Given the description of an element on the screen output the (x, y) to click on. 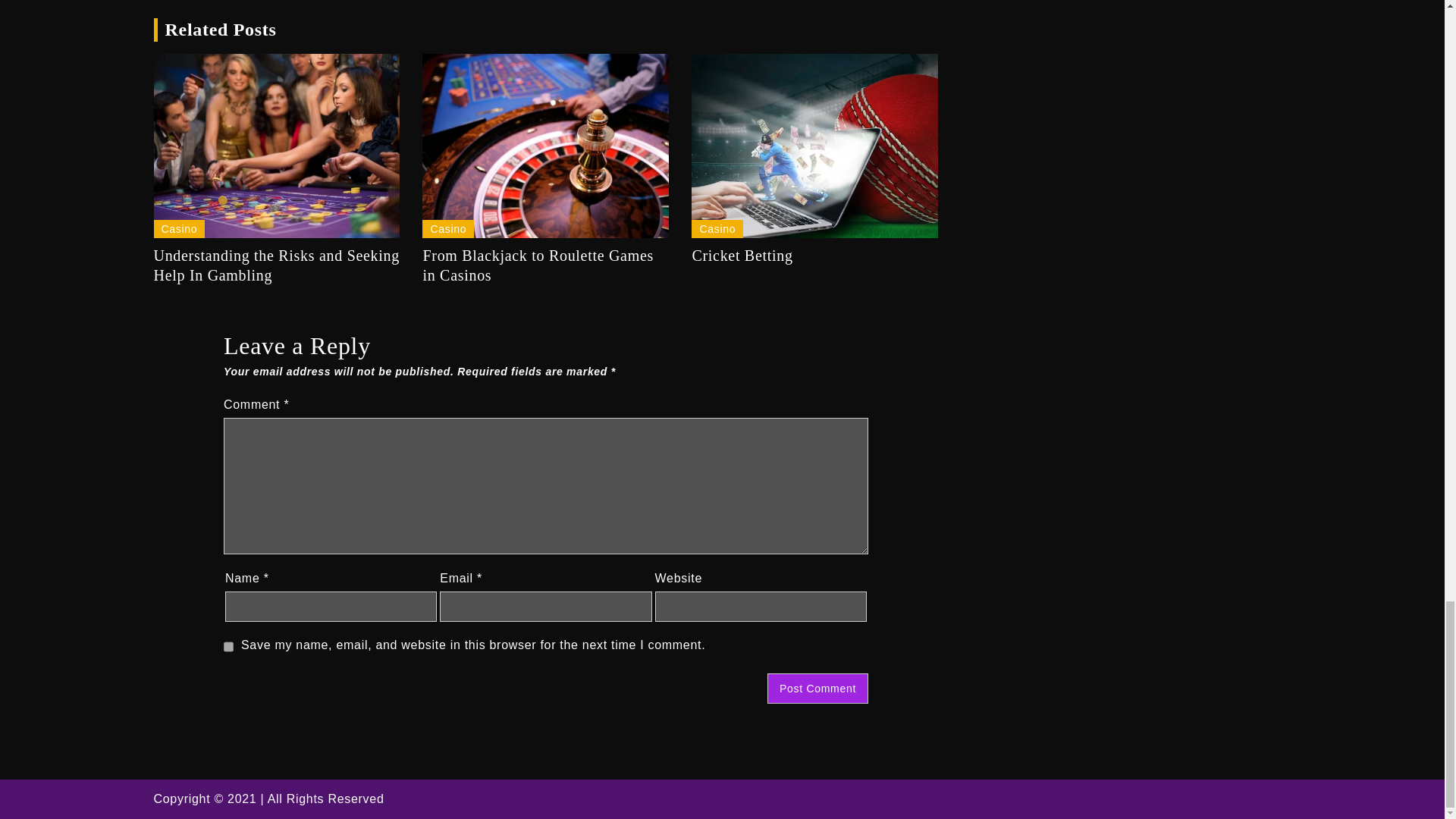
Casino (448, 229)
Post Comment (817, 688)
Understanding the Risks and Seeking Help In Gambling (275, 265)
From Blackjack to Roulette Games in Casinos (545, 265)
Casino (178, 229)
Cricket Betting (814, 255)
Casino (716, 229)
Post Comment (817, 688)
